Given the description of an element on the screen output the (x, y) to click on. 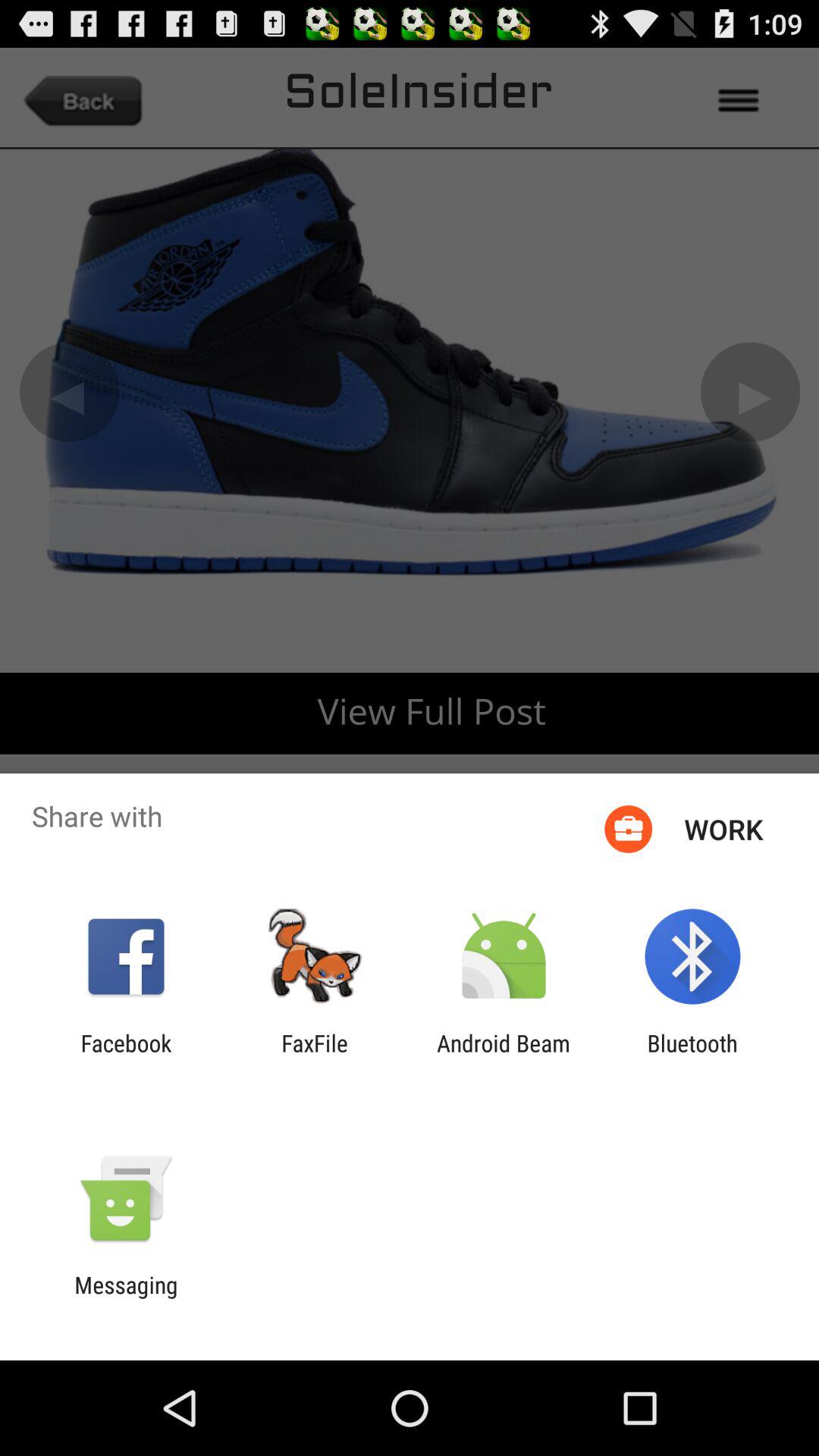
tap facebook icon (125, 1056)
